Given the description of an element on the screen output the (x, y) to click on. 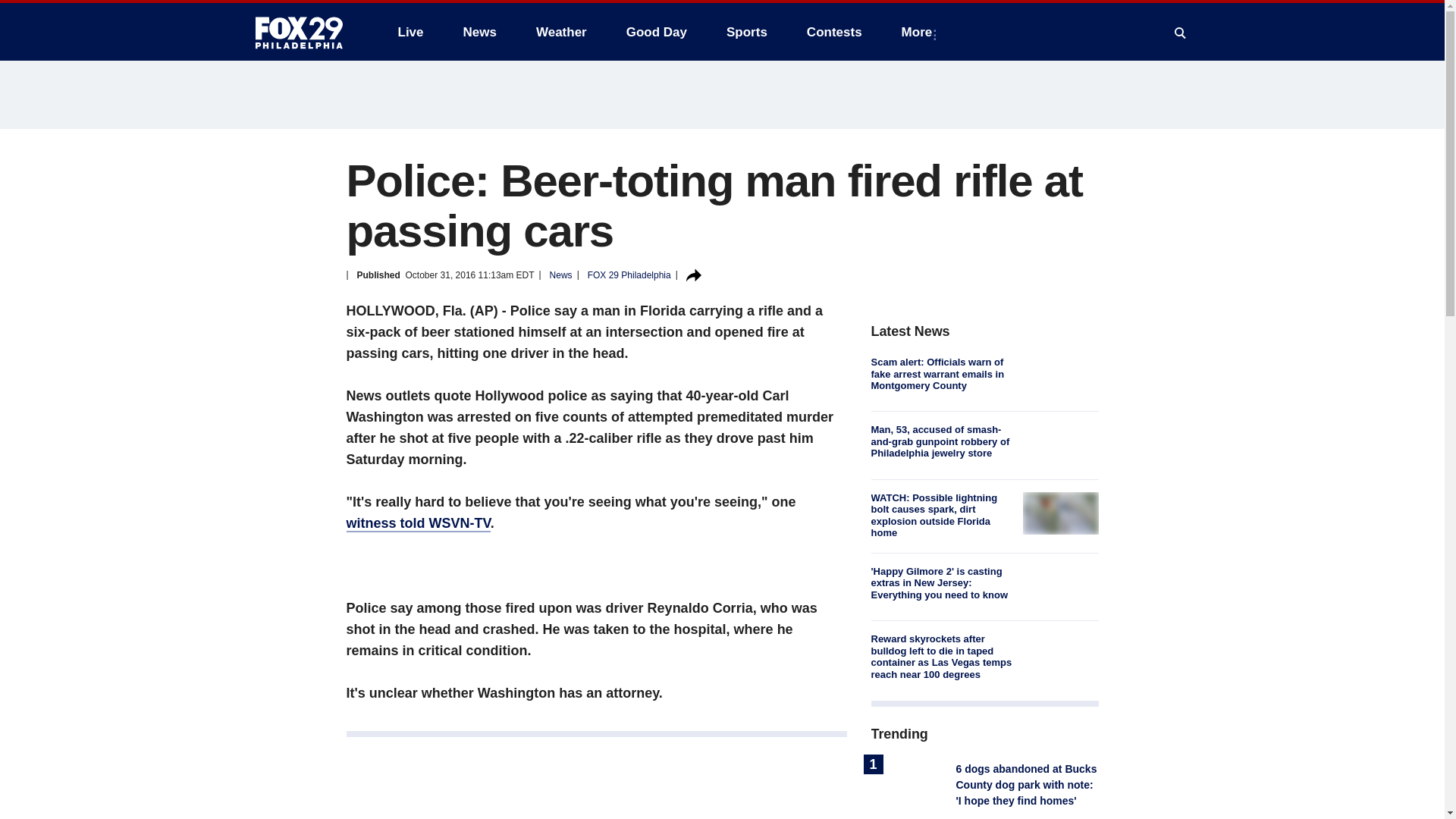
Live (410, 32)
Weather (561, 32)
Contests (834, 32)
Sports (746, 32)
News (479, 32)
Good Day (656, 32)
More (919, 32)
